Given the description of an element on the screen output the (x, y) to click on. 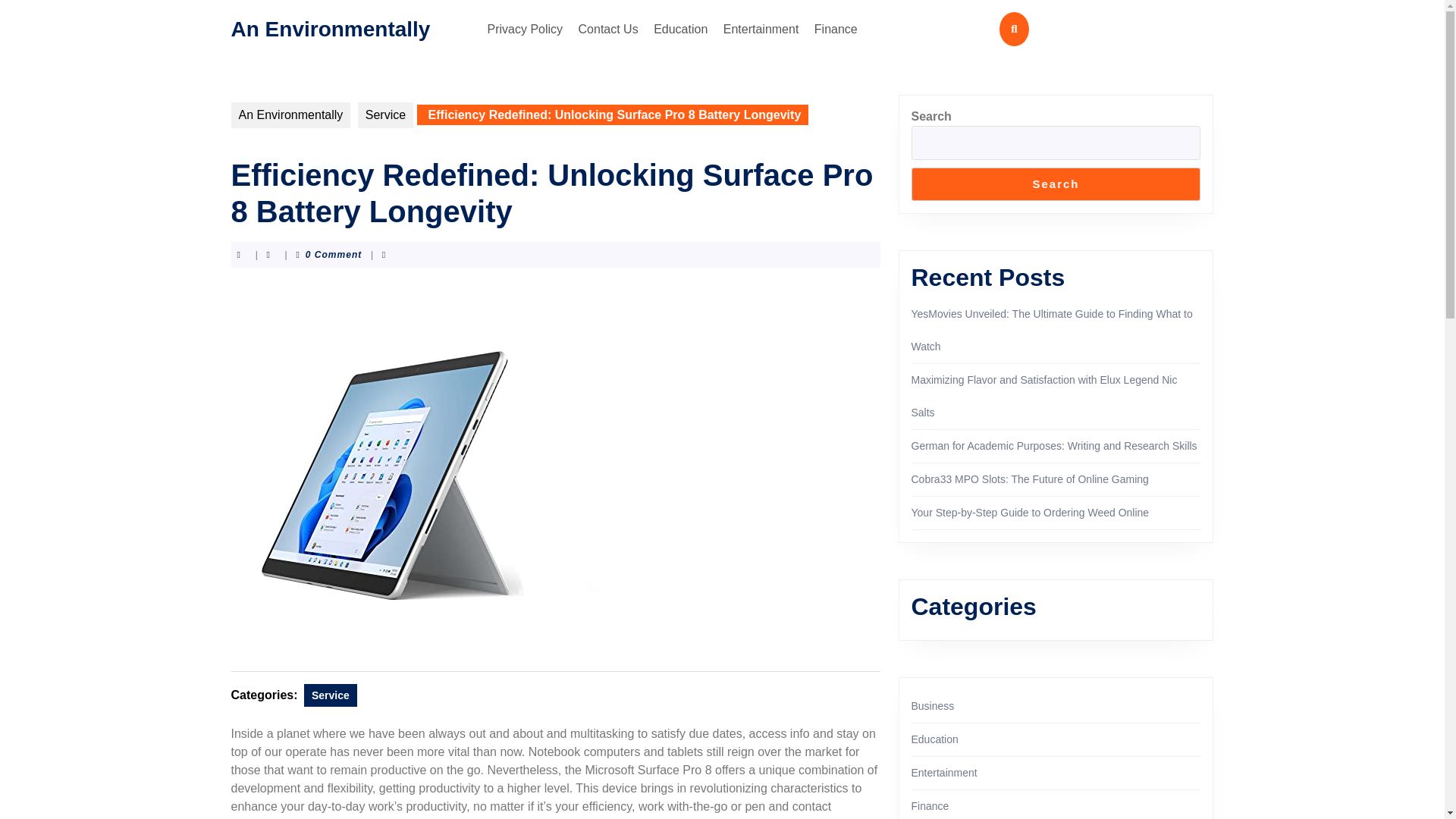
Search (1056, 183)
Finance (835, 28)
German for Academic Purposes: Writing and Research Skills (1053, 445)
An Environmentally (329, 28)
Privacy Policy (524, 28)
Education (680, 28)
Contact Us (608, 28)
Entertainment (761, 28)
Your Step-by-Step Guide to Ordering Weed Online (1030, 512)
Service (385, 114)
Cobra33 MPO Slots: The Future of Online Gaming (1029, 479)
An Environmentally (290, 114)
Service (330, 694)
